Given the description of an element on the screen output the (x, y) to click on. 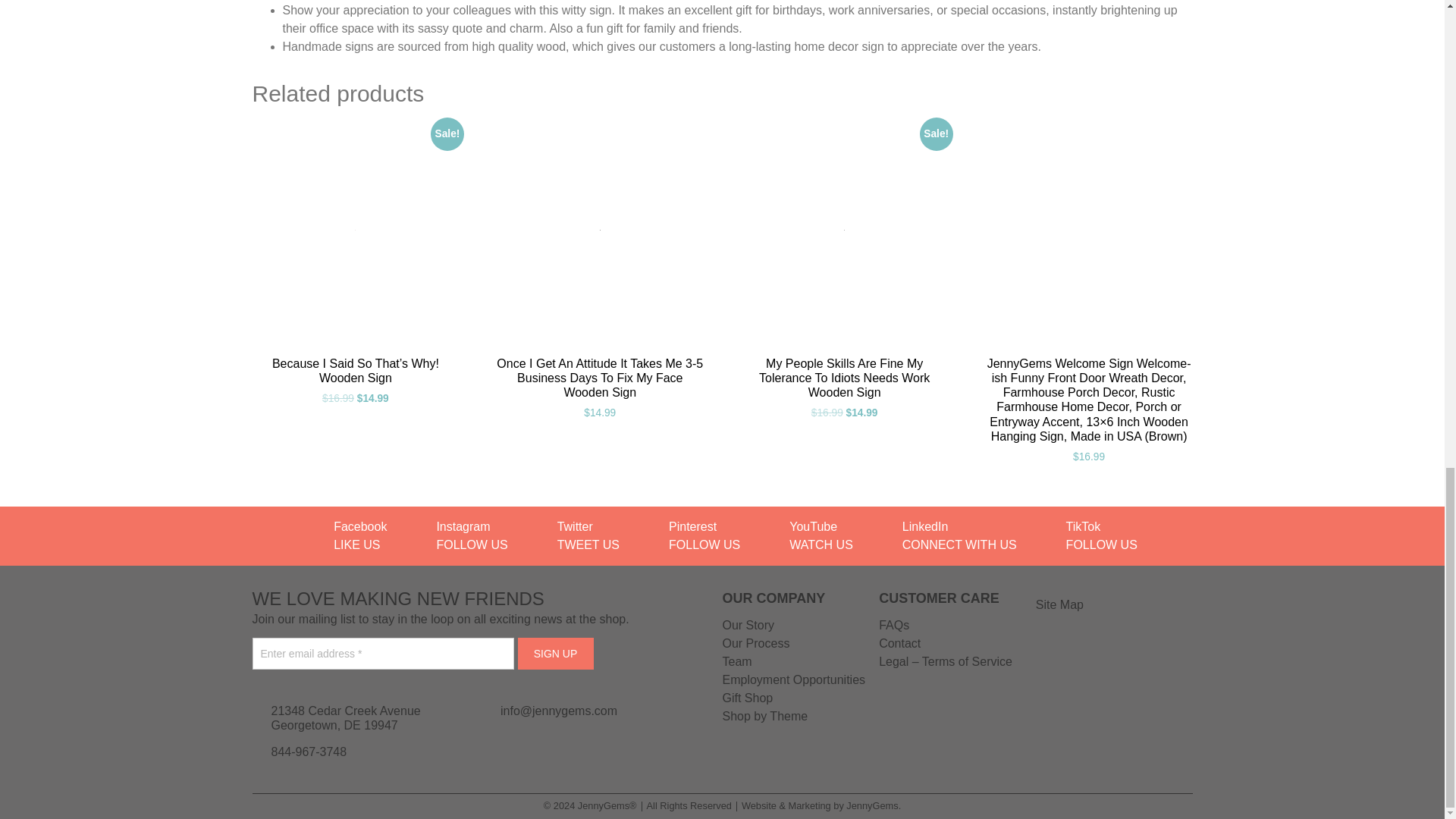
SIGN UP (554, 653)
